Given the description of an element on the screen output the (x, y) to click on. 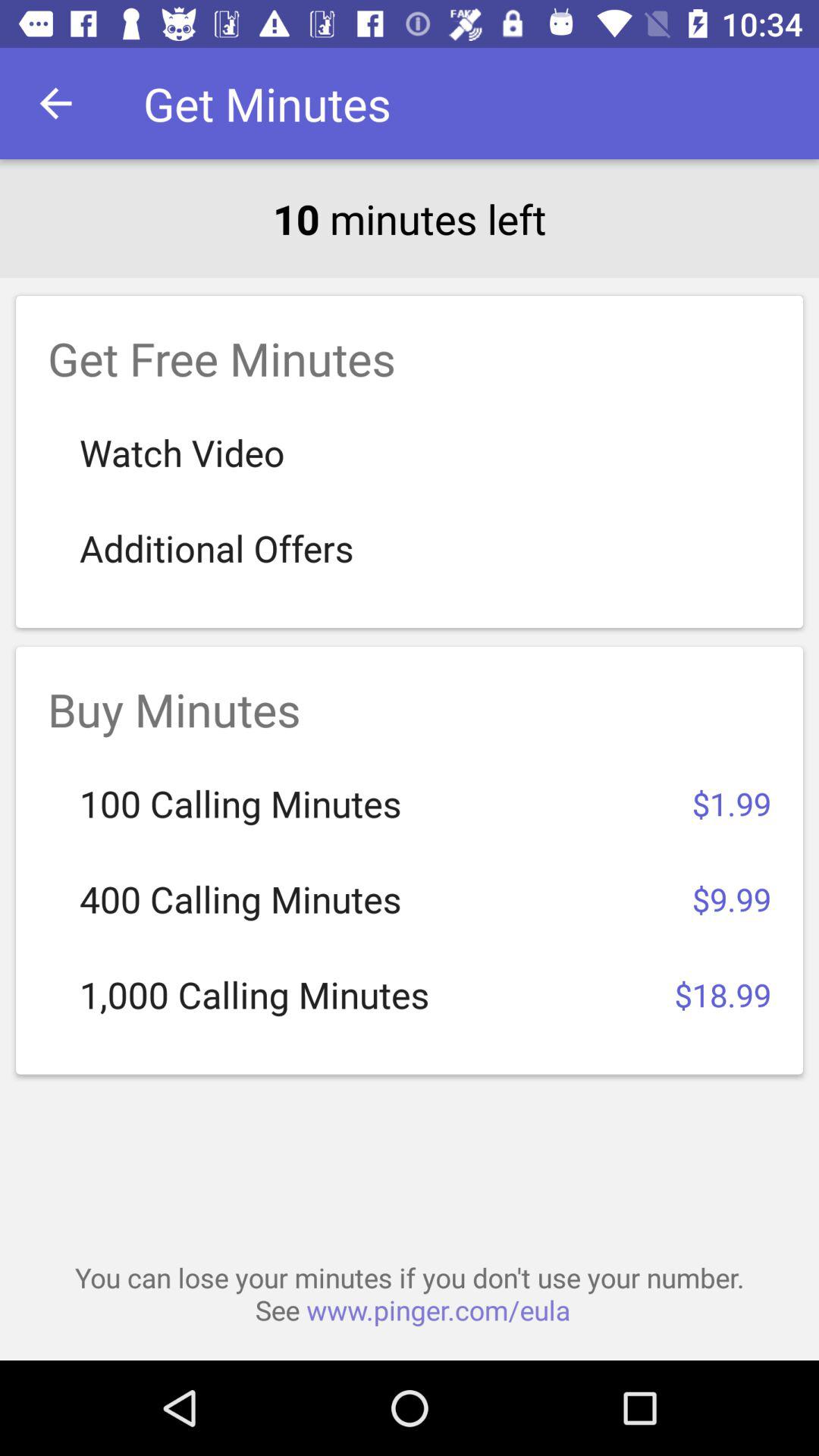
select the icon below 1 000 calling icon (409, 1293)
